Given the description of an element on the screen output the (x, y) to click on. 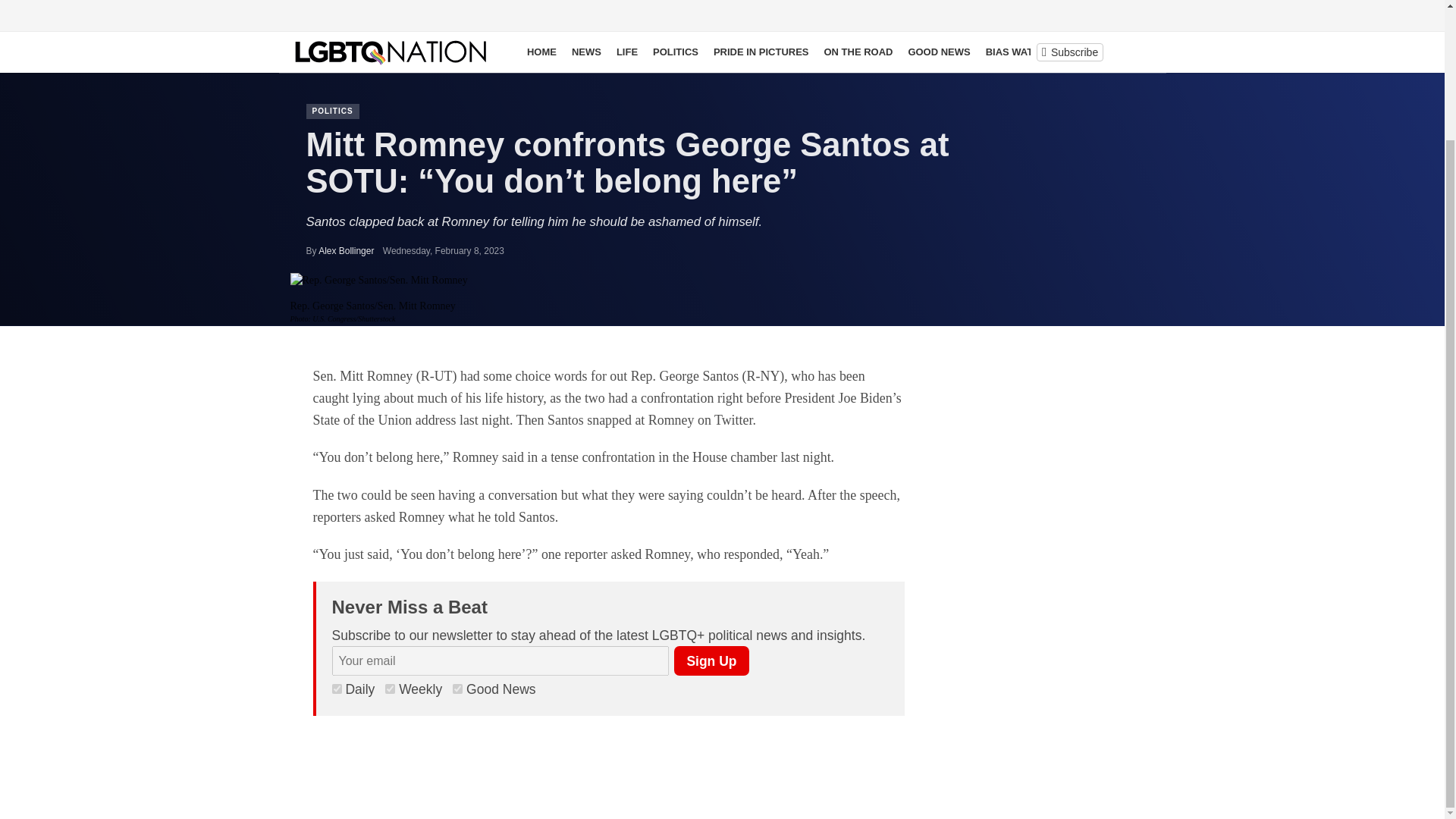
Subscribe (1069, 51)
Alex Bollinger (346, 250)
POLITICS (675, 51)
NEWS (586, 51)
Sign Up (711, 660)
mitt-romney-george-santos (378, 280)
POLITICS (332, 111)
1920883 (457, 688)
ON THE ROAD (857, 51)
PRIDE IN PICTURES (761, 51)
COMMENTARY (1097, 51)
Posts by Alex Bollinger (346, 250)
BIAS WATCH (1016, 51)
1920884 (389, 688)
1920885 (336, 688)
